Given the description of an element on the screen output the (x, y) to click on. 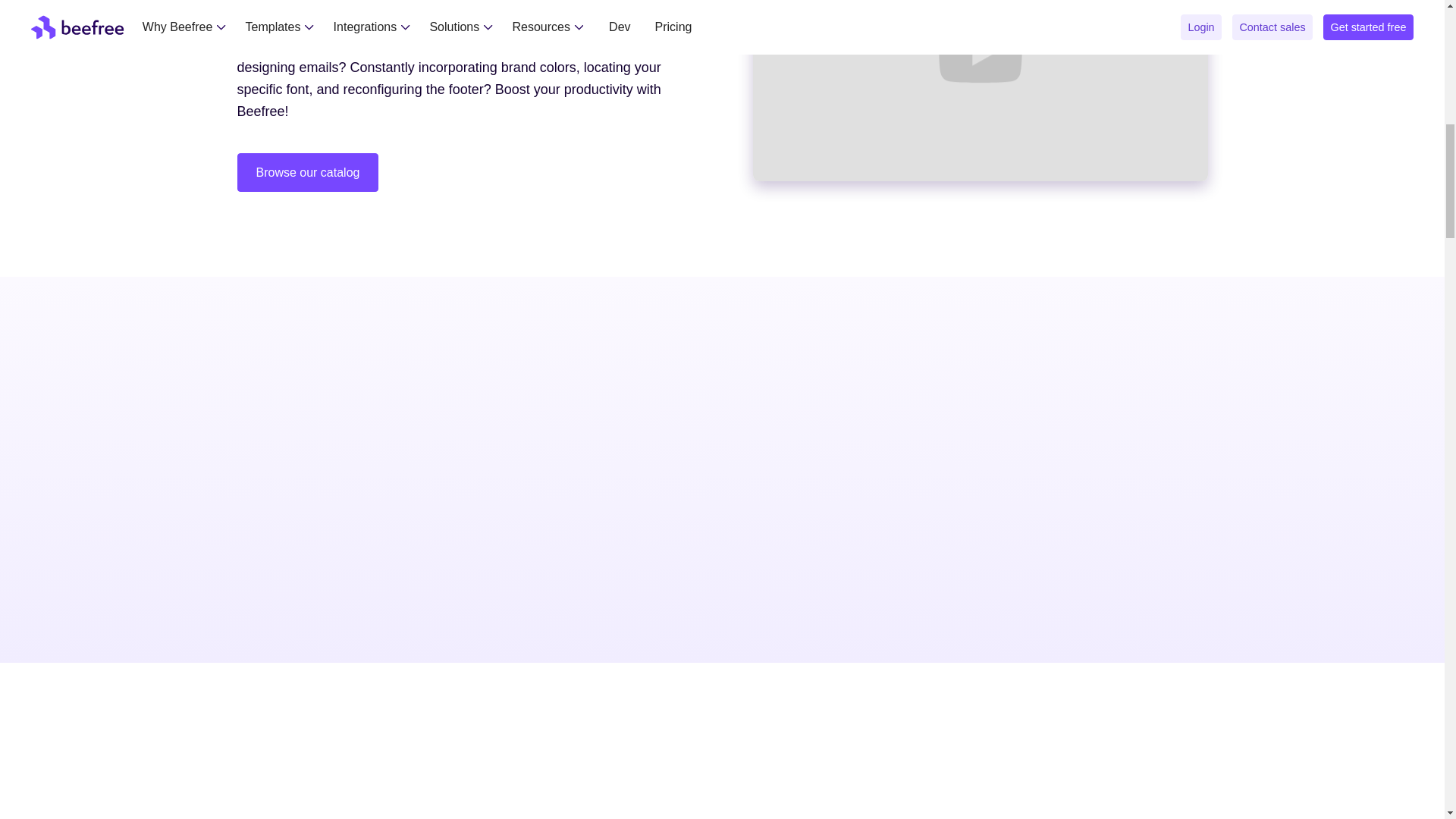
How to set up your branding in Beefree (979, 90)
